Given the description of an element on the screen output the (x, y) to click on. 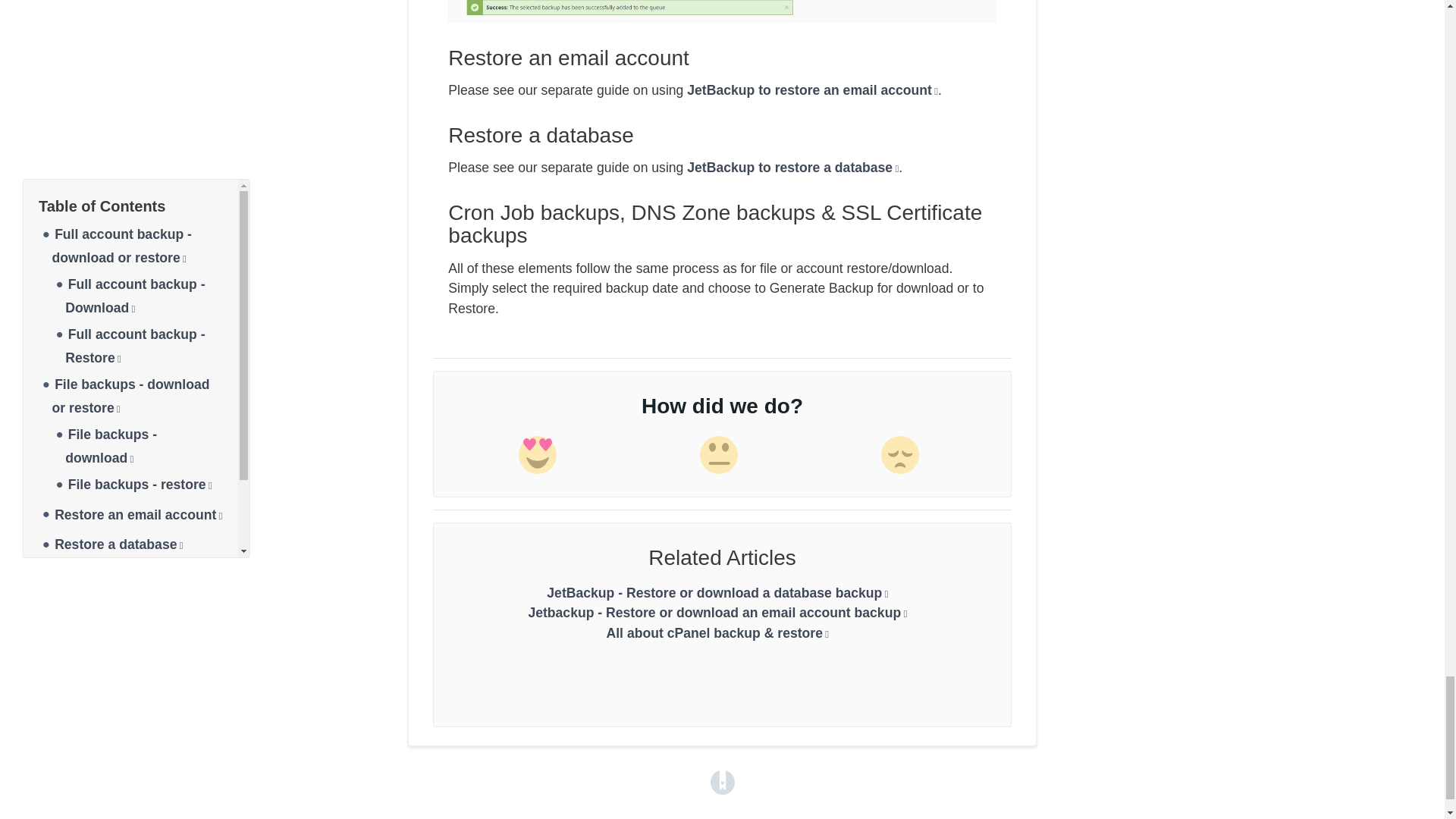
JetBackup to restore an email account (812, 89)
Jetbackup - Restore or download an email account backup (717, 612)
Powered by HelpDocs (721, 780)
JetBackup - Restore or download a database backup (717, 592)
JetBackup to restore a database (792, 167)
